Given the description of an element on the screen output the (x, y) to click on. 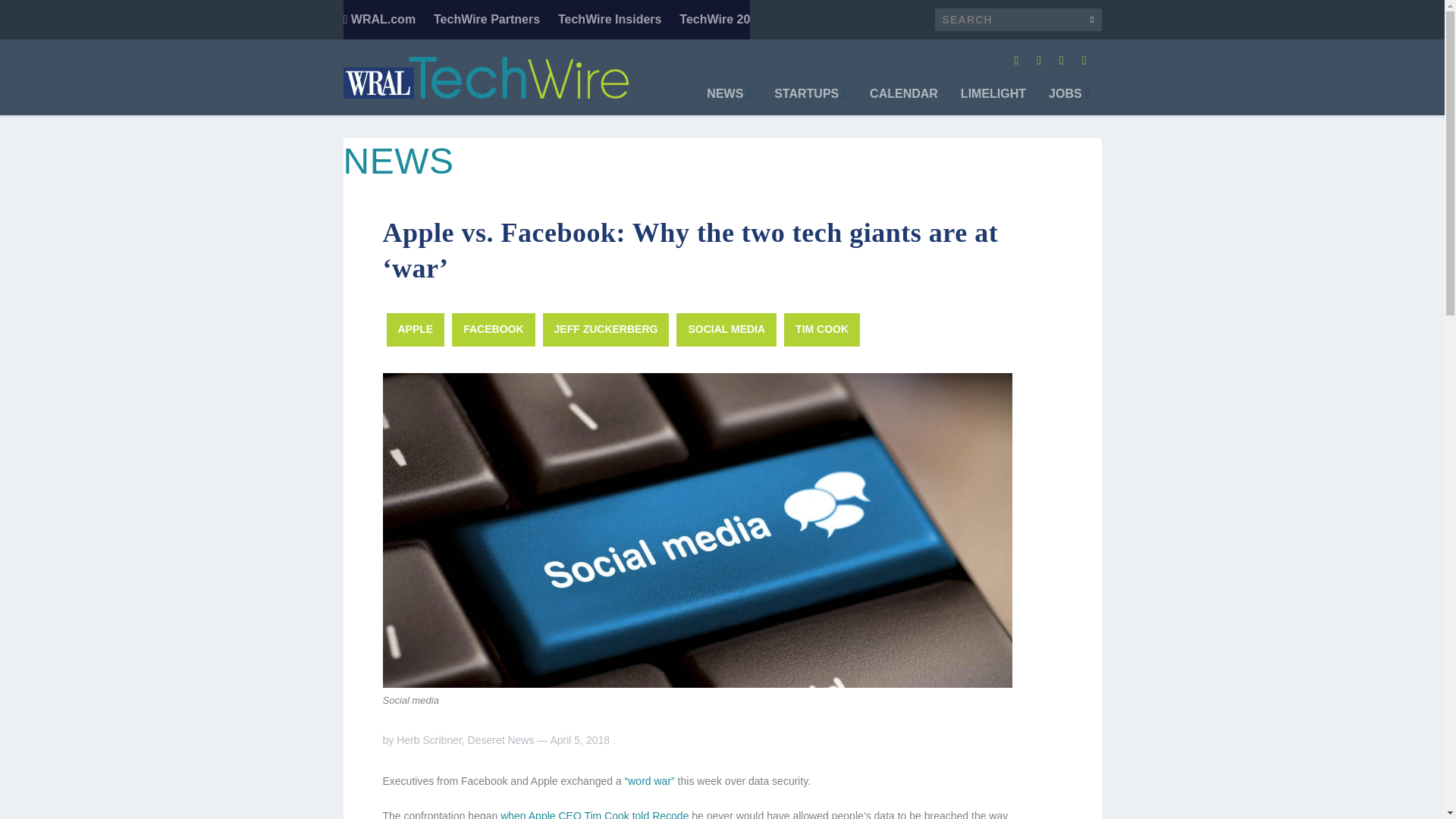
TechWire 20 (714, 19)
TechWire Insiders (609, 19)
LIMELIGHT (993, 101)
STARTUPS (810, 101)
JOBS (1068, 101)
Search for: (1017, 19)
CALENDAR (903, 101)
TechWire Partners (486, 19)
NEWS (728, 101)
WRAL.com (378, 19)
